Given the description of an element on the screen output the (x, y) to click on. 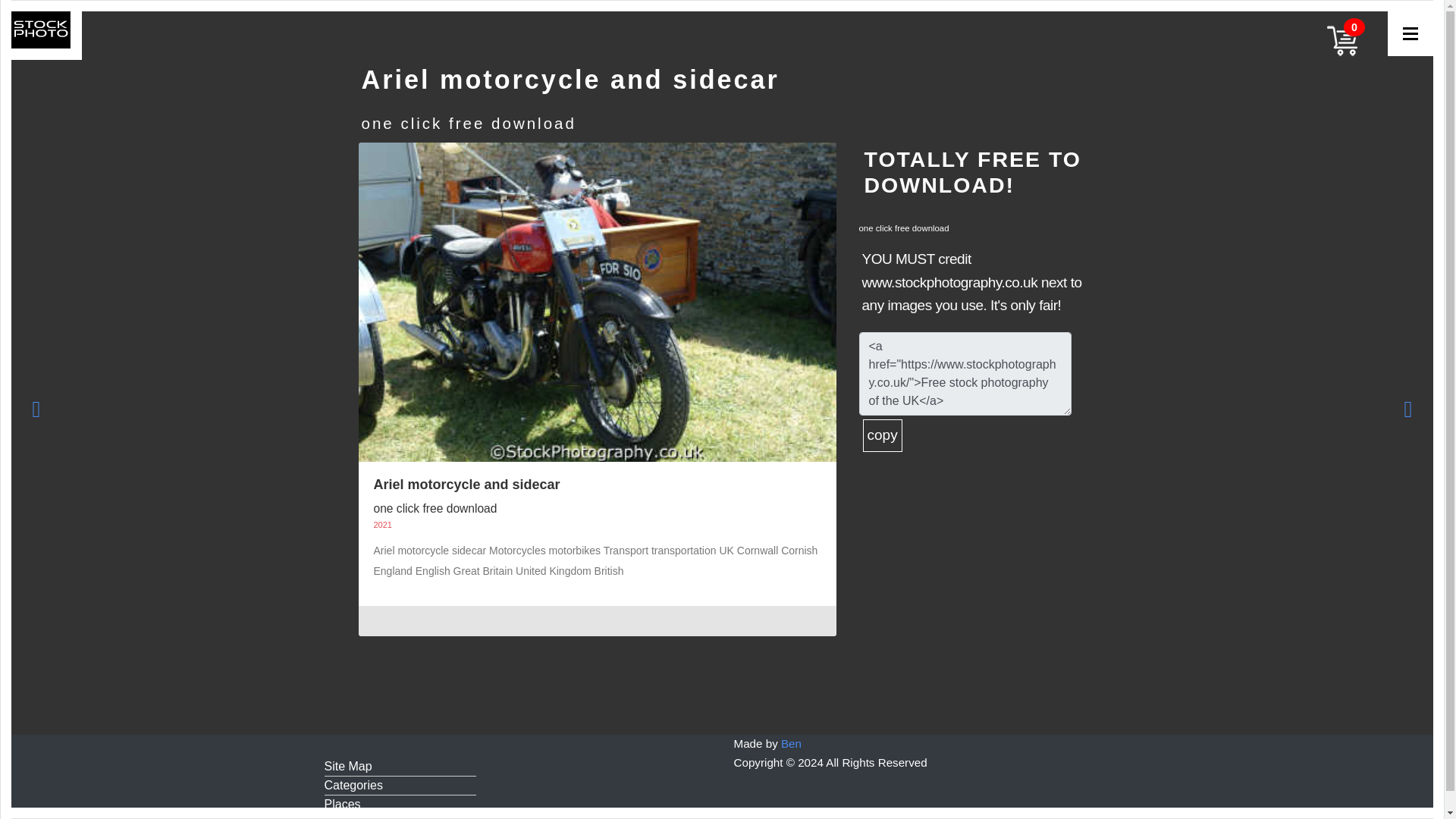
Ben (791, 743)
Categories (400, 785)
one click free download (434, 498)
cart item count (1341, 40)
0 (1341, 40)
DOWNLOAD (904, 221)
Site Map (400, 766)
DOWNLOAD (468, 110)
one click free download (904, 221)
